Given the description of an element on the screen output the (x, y) to click on. 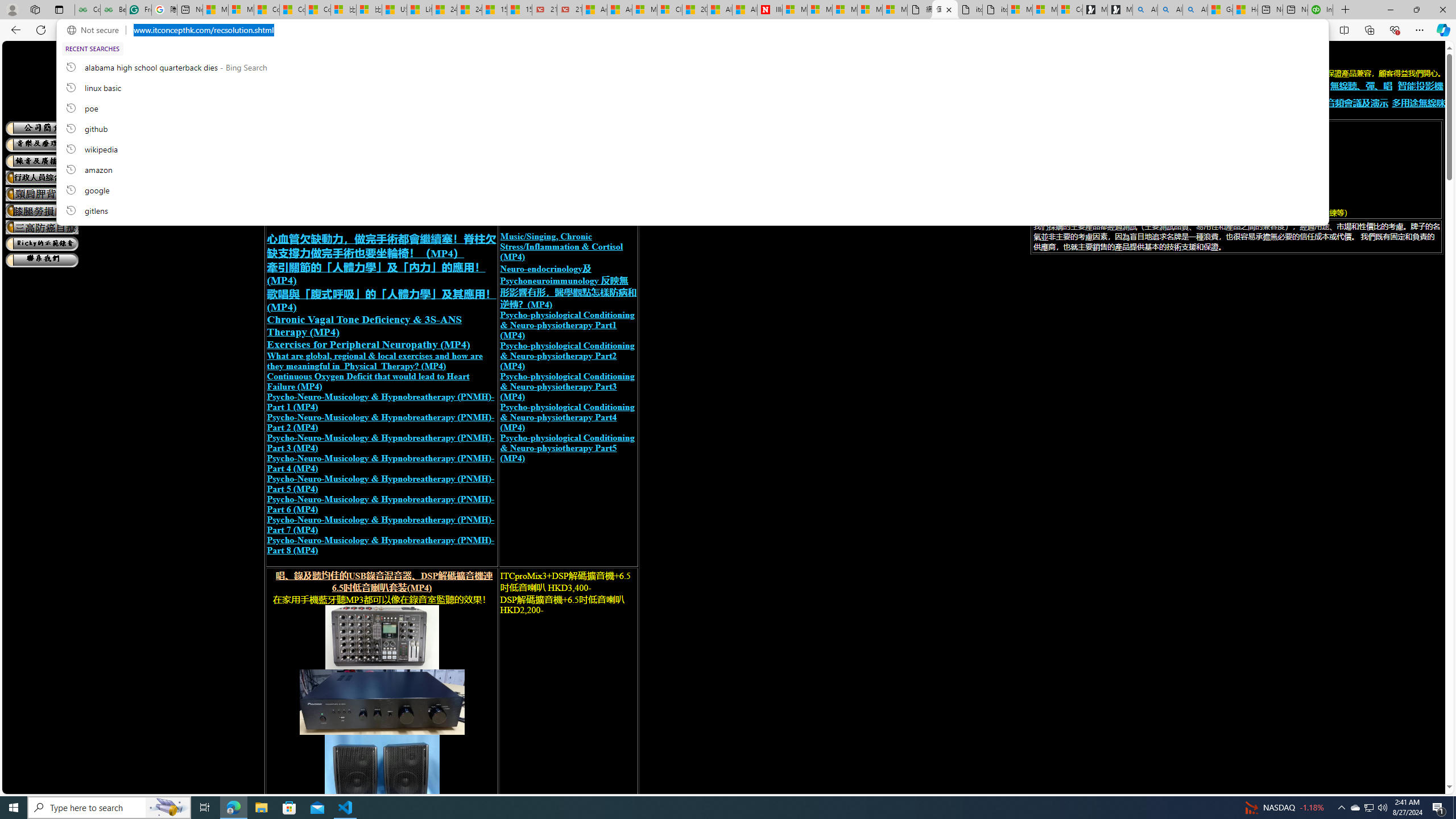
Best SSL Certificates Provider in India - GeeksforGeeks (113, 9)
Cloud Computing Services | Microsoft Azure (669, 9)
Chronic Vagal Tone Deficiency & 3S-ANS Therapy (MP4) (364, 325)
15 Ways Modern Life Contradicts the Teachings of Jesus (519, 9)
google, recent searches from history (691, 189)
itconcepthk.com/projector_solutions.mp4 (993, 9)
